Given the description of an element on the screen output the (x, y) to click on. 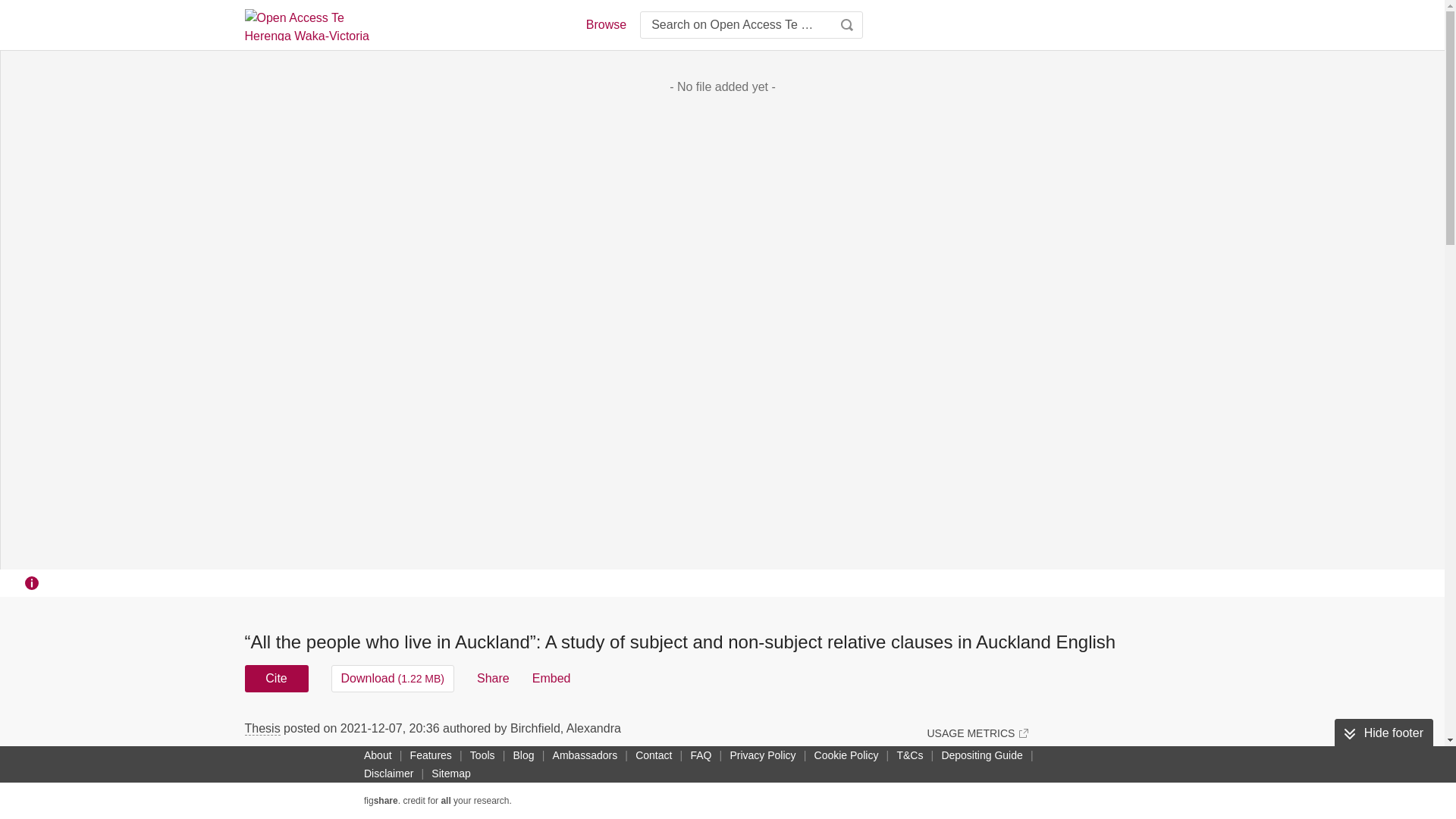
Hide footer (1383, 733)
USAGE METRICS (976, 732)
Cite (275, 678)
Browse (605, 24)
Share (493, 678)
Embed (551, 678)
